Given the description of an element on the screen output the (x, y) to click on. 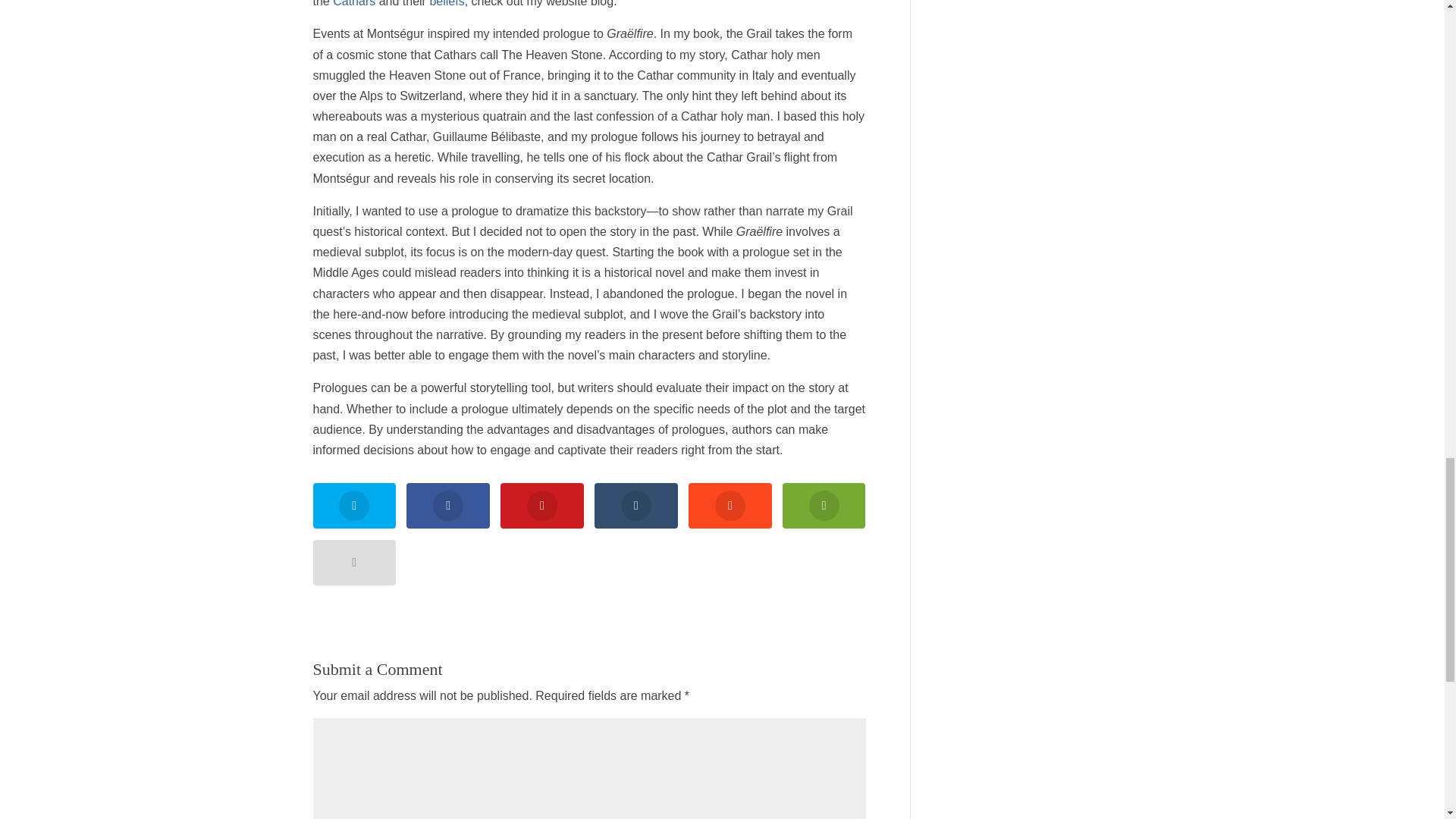
Cathars (354, 3)
beliefs (446, 3)
